Given the description of an element on the screen output the (x, y) to click on. 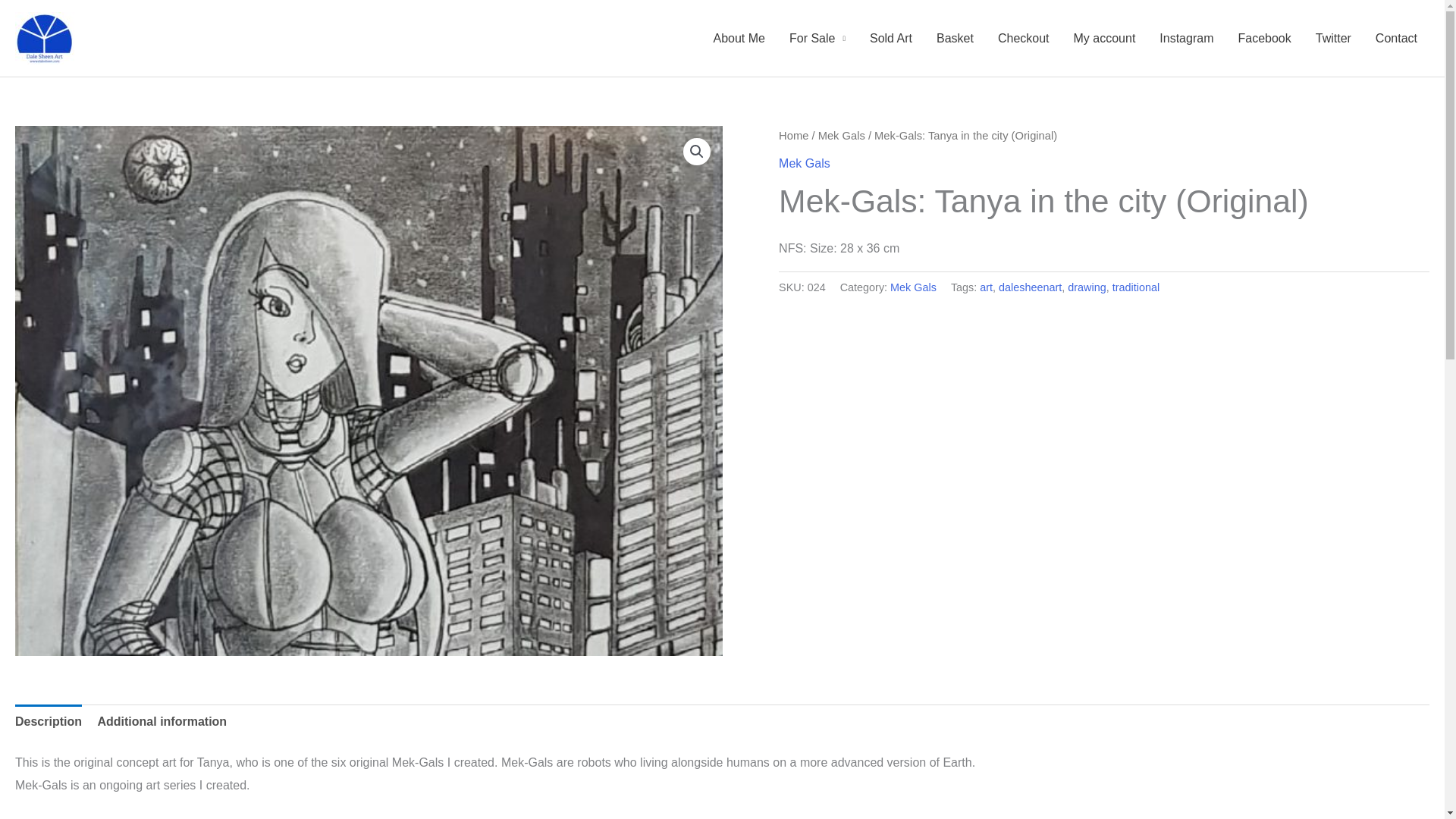
About Me (738, 38)
Checkout (1023, 38)
Mek Gals (803, 163)
dalesheenart (1029, 287)
drawing (1086, 287)
art (985, 287)
Facebook (1264, 38)
Additional information (162, 721)
Home (793, 135)
Instagram (1186, 38)
traditional (1135, 287)
For Sale (817, 38)
Mek Gals (912, 287)
Description (47, 721)
